Given the description of an element on the screen output the (x, y) to click on. 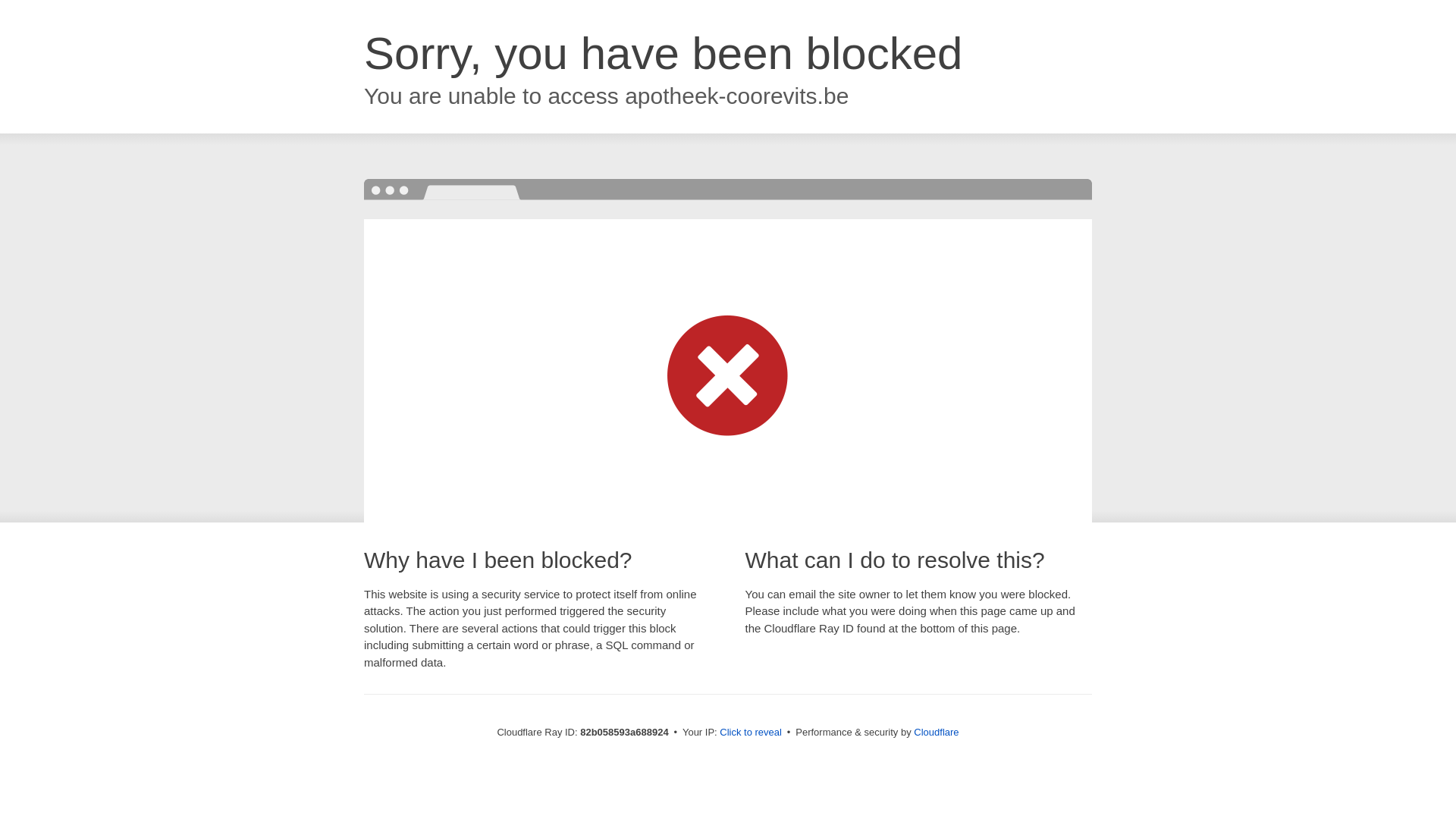
Cloudflare Element type: text (935, 731)
Click to reveal Element type: text (750, 732)
